Given the description of an element on the screen output the (x, y) to click on. 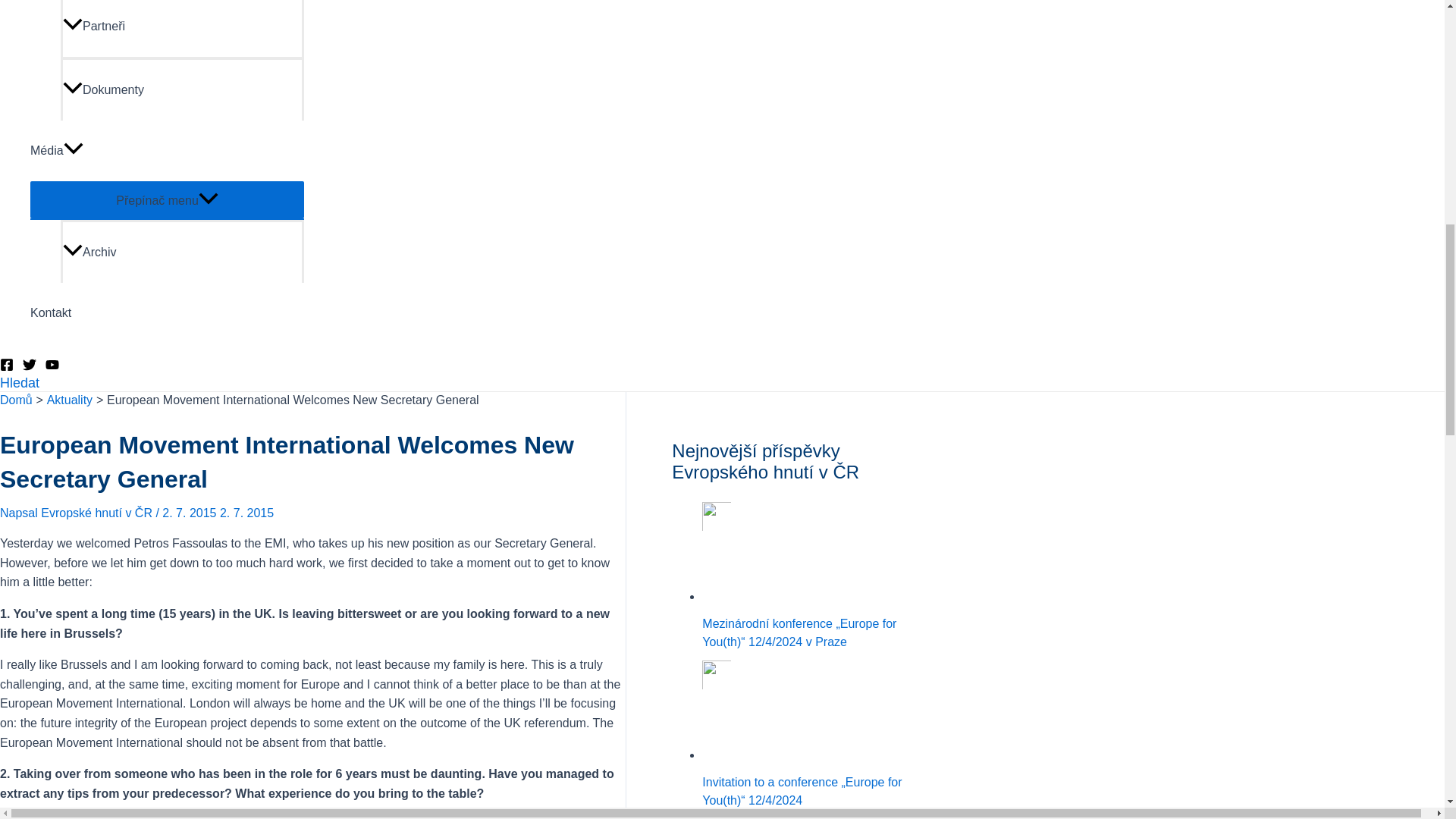
Kontakt (167, 312)
Archiv (182, 251)
Dokumenty (182, 88)
Hledat (19, 382)
